Given the description of an element on the screen output the (x, y) to click on. 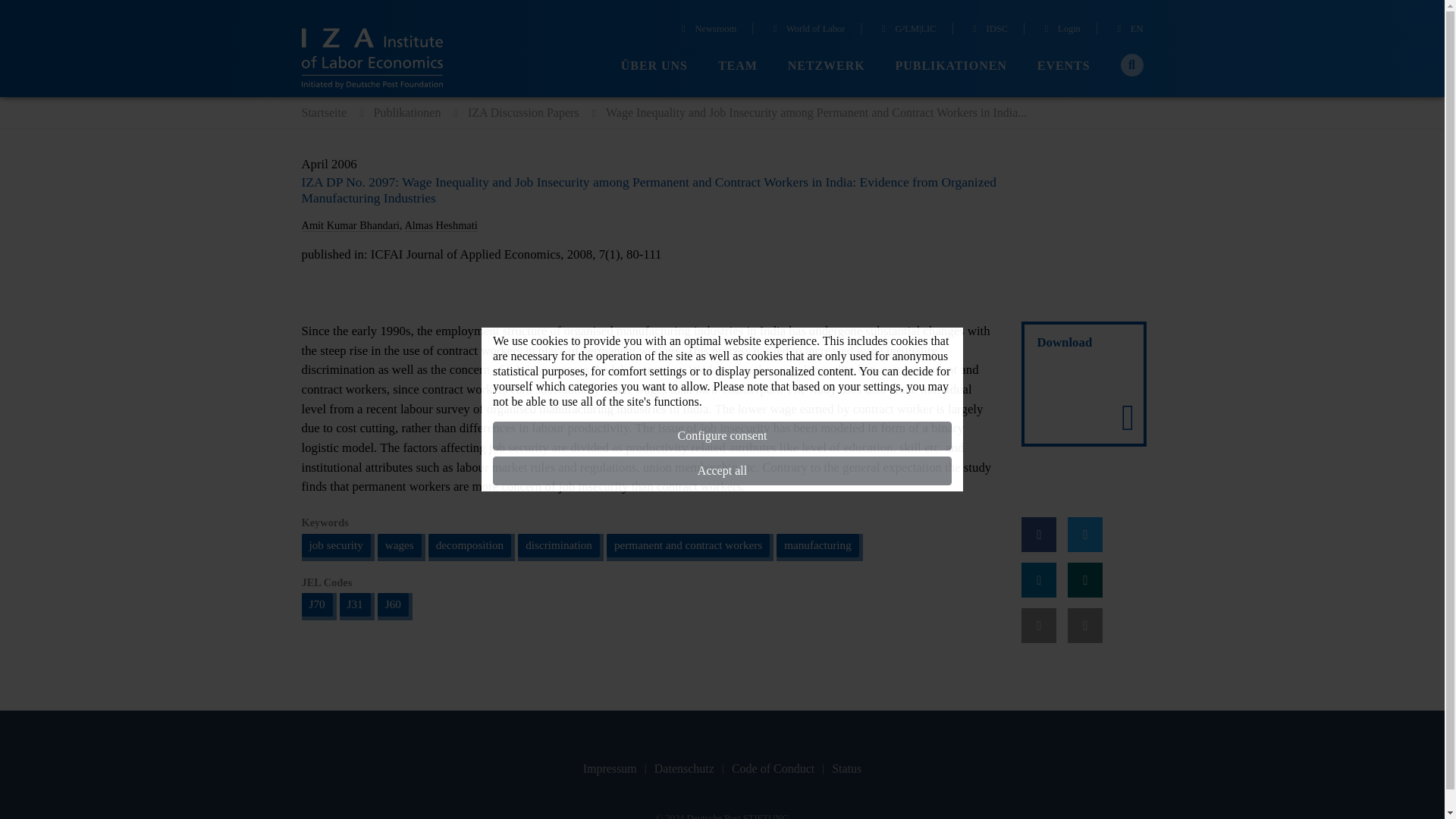
Newsroom (707, 30)
IDSC (988, 30)
TEAM (737, 66)
EN (1127, 30)
EVENTS (1063, 66)
NETZWERK (825, 66)
PUBLIKATIONEN (951, 66)
World of Labor (807, 30)
Login (1060, 30)
